Given the description of an element on the screen output the (x, y) to click on. 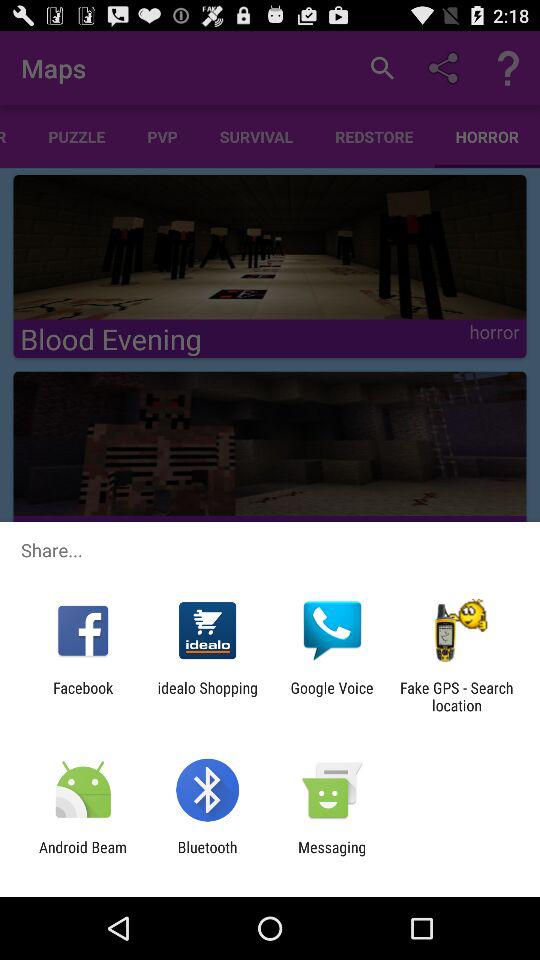
swipe until the fake gps search app (456, 696)
